Given the description of an element on the screen output the (x, y) to click on. 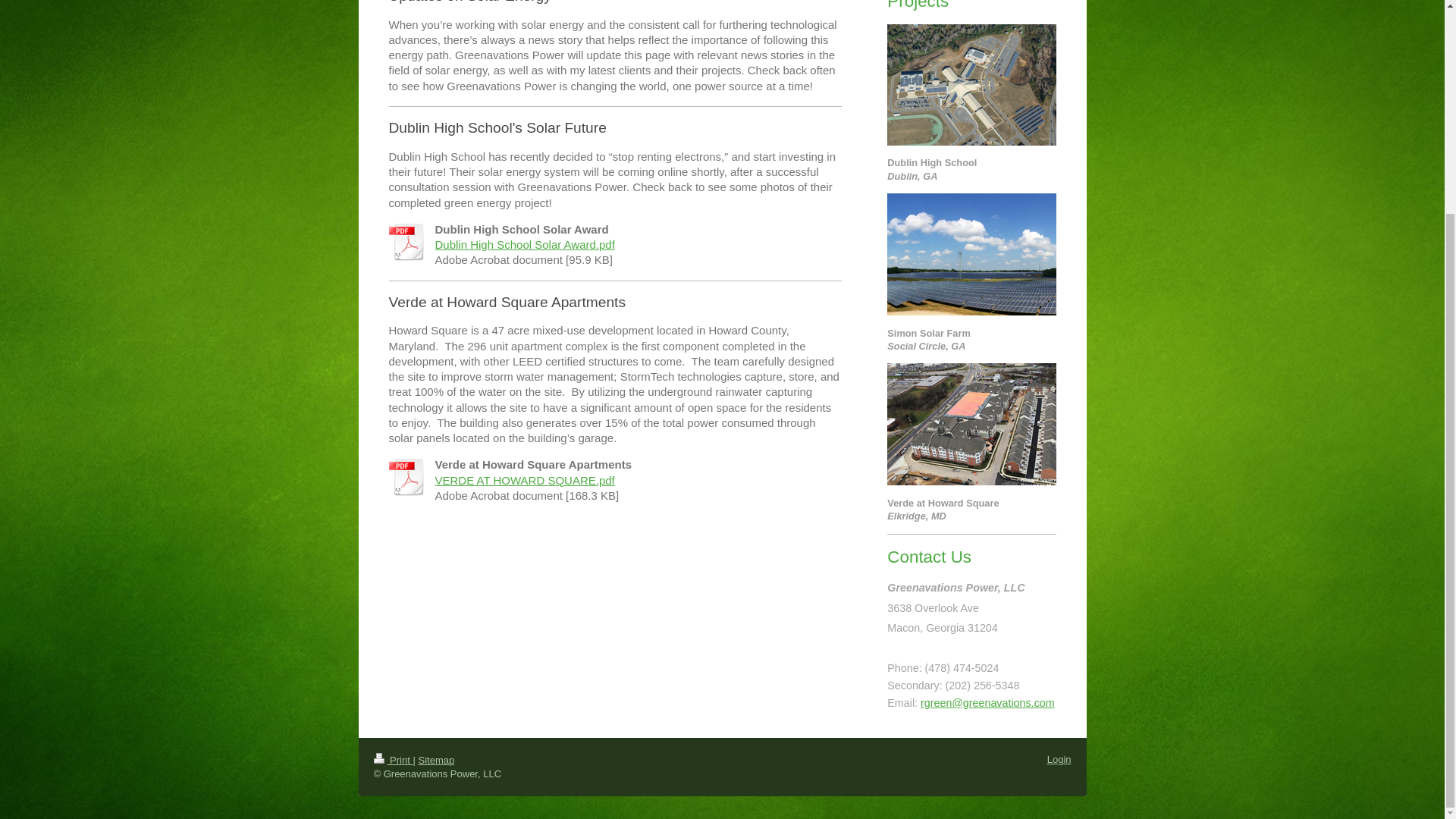
Login (1058, 758)
Print (392, 759)
Sitemap (435, 759)
VERDE AT HOWARD SQUARE.pdf (524, 480)
Dublin High School Solar Award.pdf (524, 244)
